Given the description of an element on the screen output the (x, y) to click on. 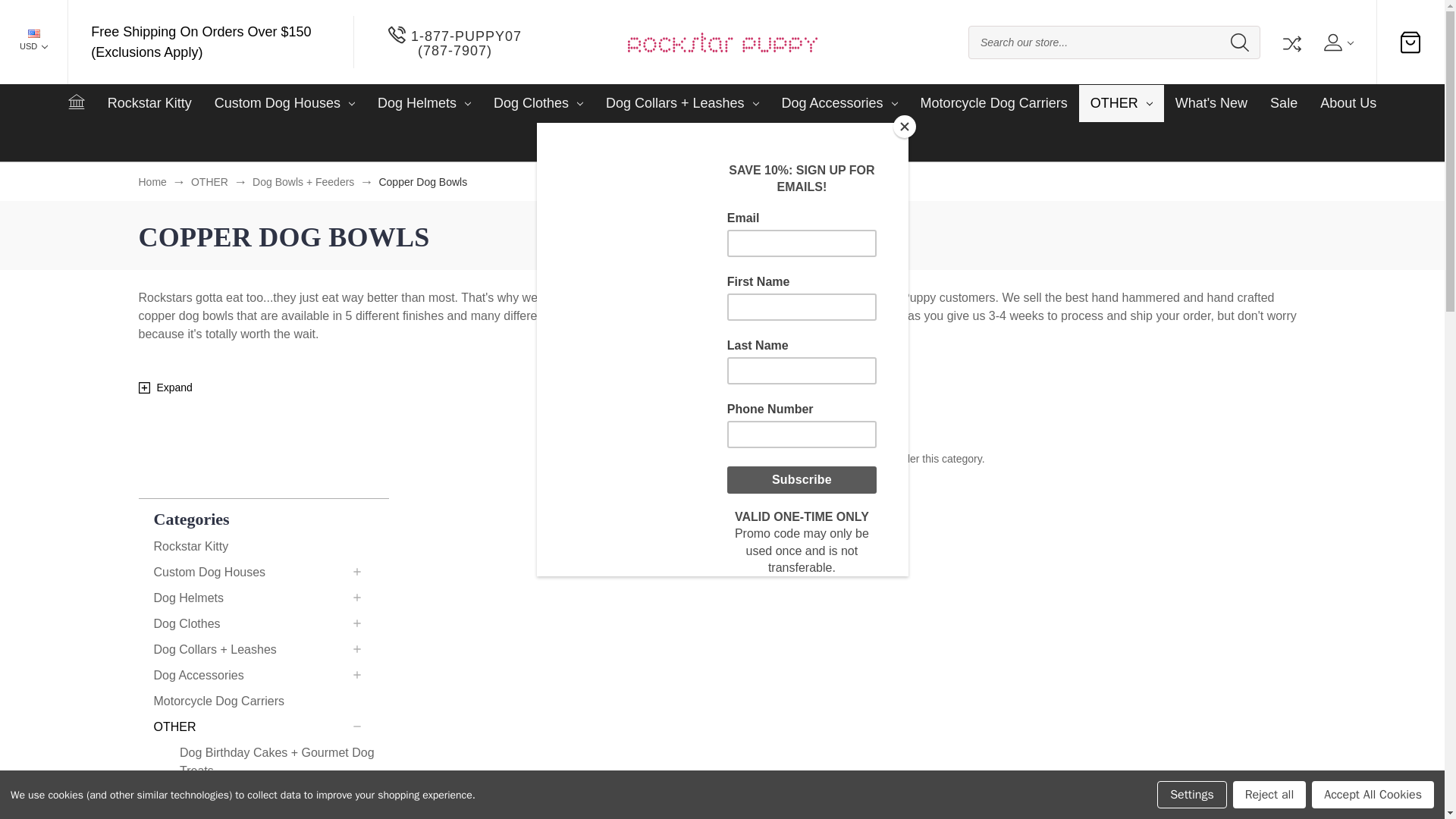
USD (34, 41)
USER (1337, 42)
Dog Clothes (537, 103)
Custom Dog Houses (284, 103)
Rockstar Kitty (149, 103)
Rockstar Puppy (721, 41)
COMPARE (1290, 42)
SEARCH (1239, 42)
Dog Helmets (423, 103)
Compare (1290, 42)
